Given the description of an element on the screen output the (x, y) to click on. 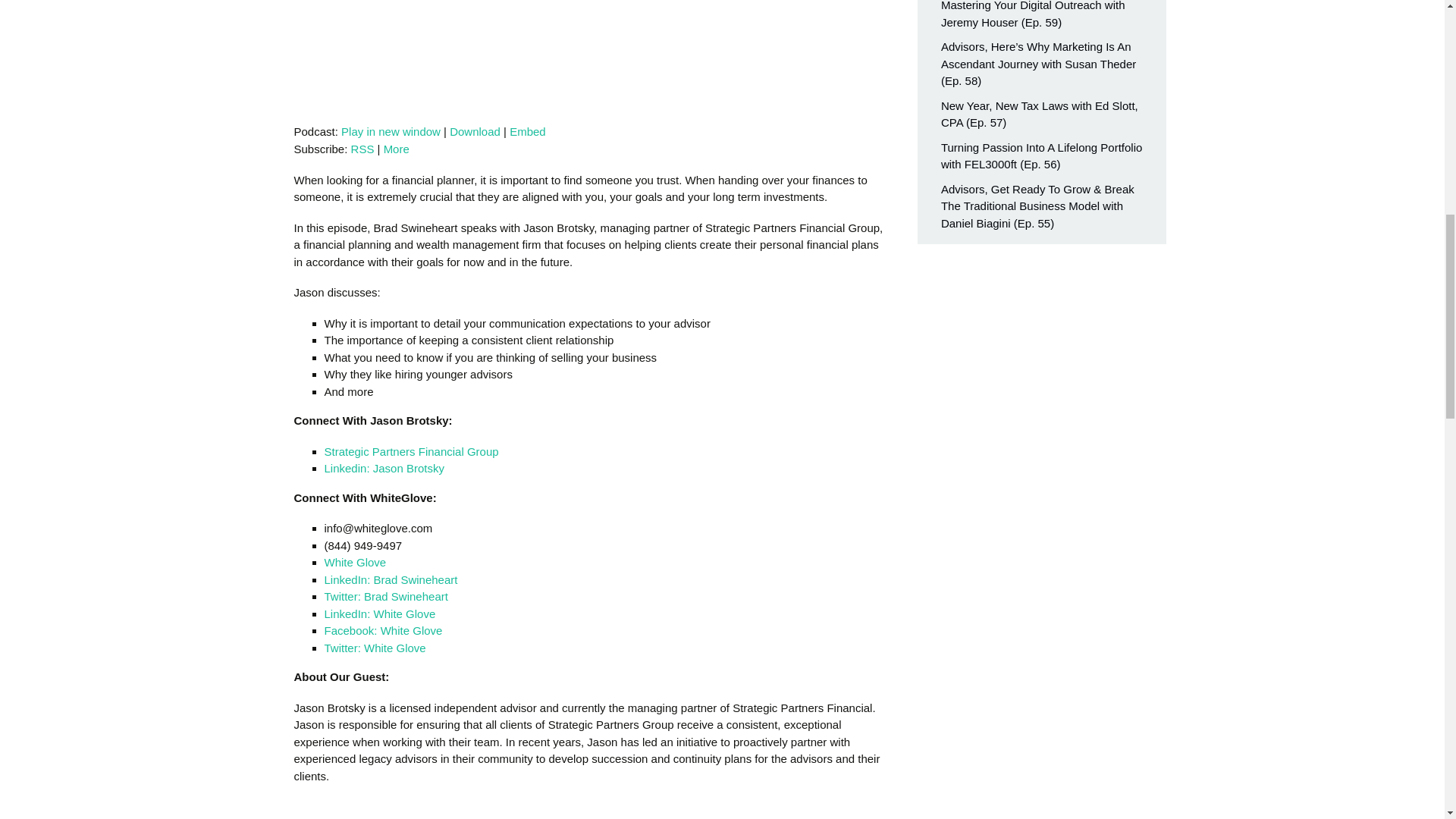
Embed (527, 131)
White Glove (355, 562)
Play in new window (390, 131)
More (396, 148)
Subscribe via RSS (362, 148)
Download (474, 131)
Download (474, 131)
LinkedIn: White Glove (379, 613)
RSS (362, 148)
Play in new window (390, 131)
